Given the description of an element on the screen output the (x, y) to click on. 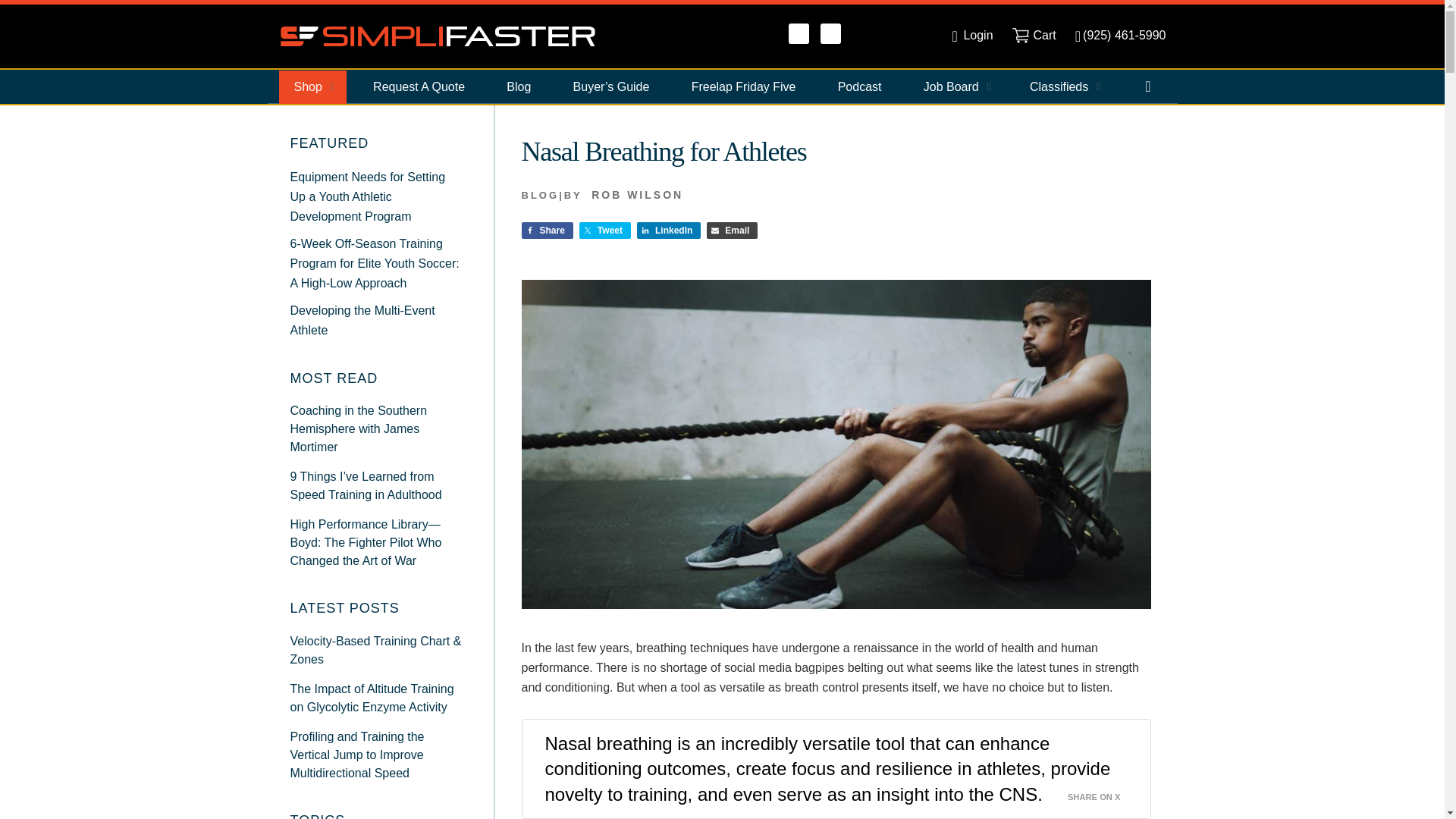
Classifieds (1063, 86)
Share on LinkedIn (668, 230)
Email (731, 230)
Freelap Friday Five (743, 86)
LinkedIn (668, 230)
Request A Quote (419, 86)
Job Board (955, 86)
ROB WILSON (636, 194)
Share (547, 230)
Login (972, 34)
